Given the description of an element on the screen output the (x, y) to click on. 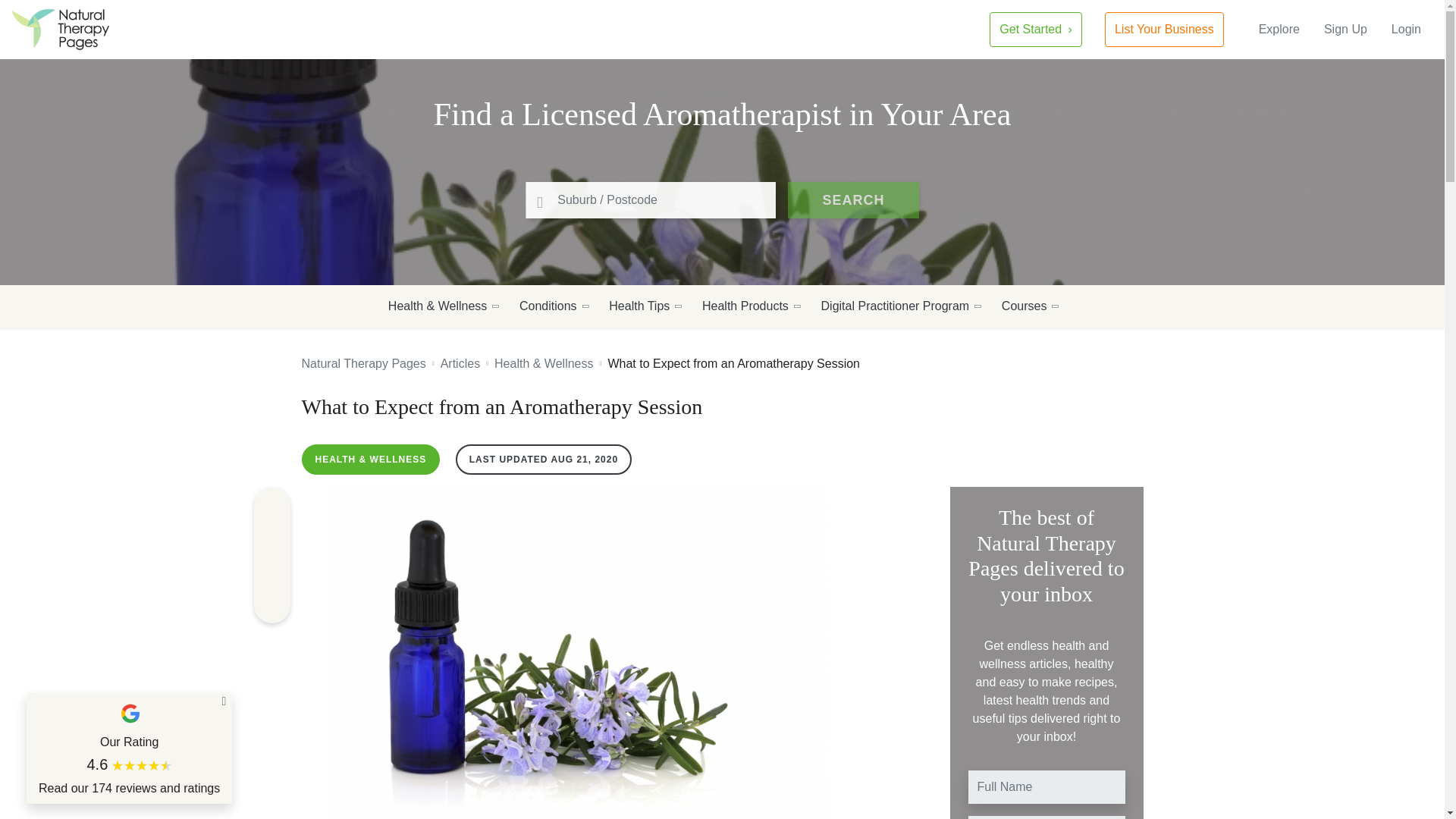
Login (1405, 29)
global.social.sharePinterest (271, 538)
Sign Up (1344, 29)
global.social.shareEmail (271, 604)
Explore (1278, 29)
global.social.shareTwitter (271, 571)
global.social.shareFacebook (271, 504)
List Your Business (1164, 28)
